Given the description of an element on the screen output the (x, y) to click on. 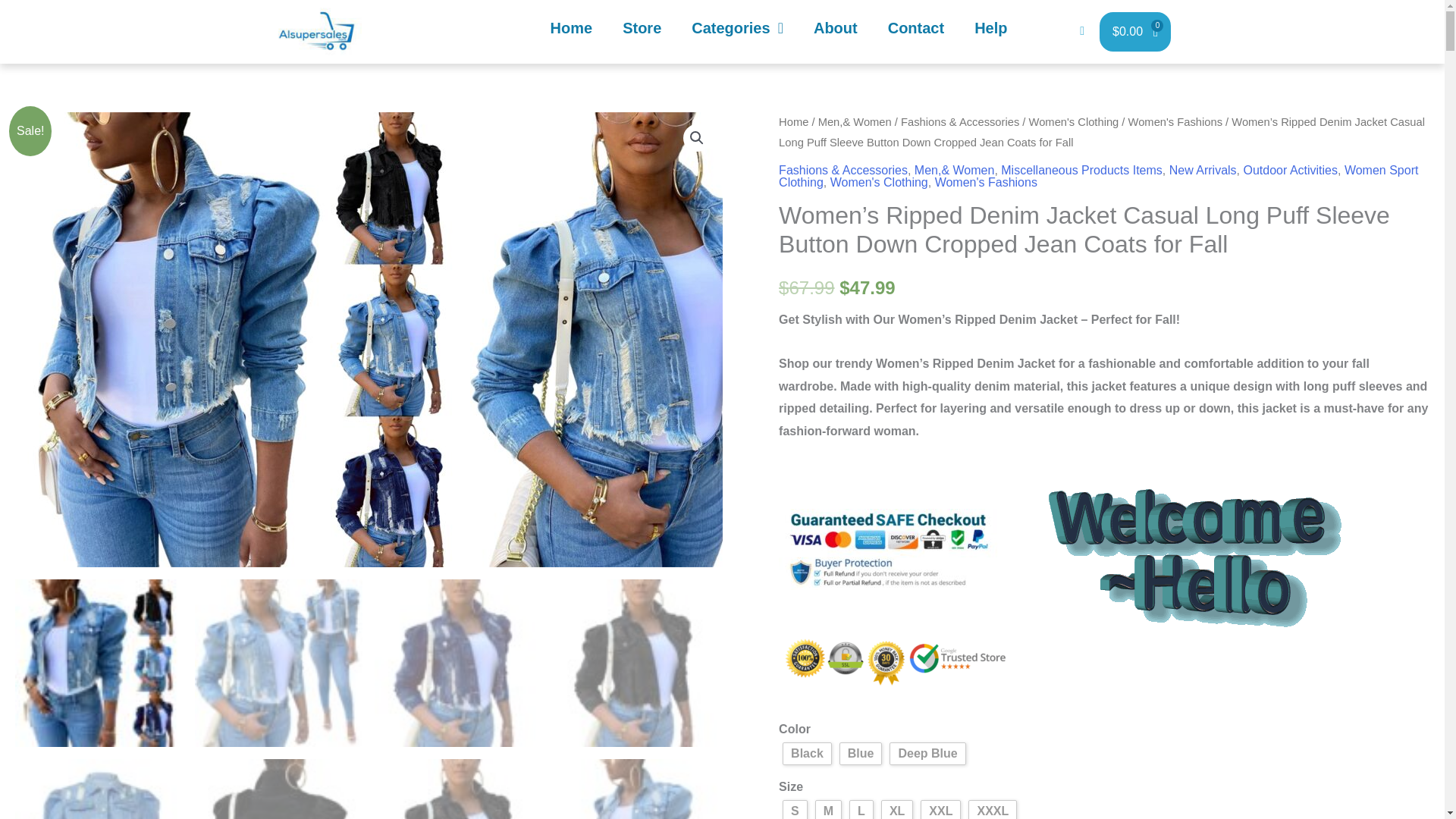
Categories (737, 27)
Contact (915, 27)
Home (571, 27)
About (834, 27)
Store (642, 27)
Help (758, 31)
